Given the description of an element on the screen output the (x, y) to click on. 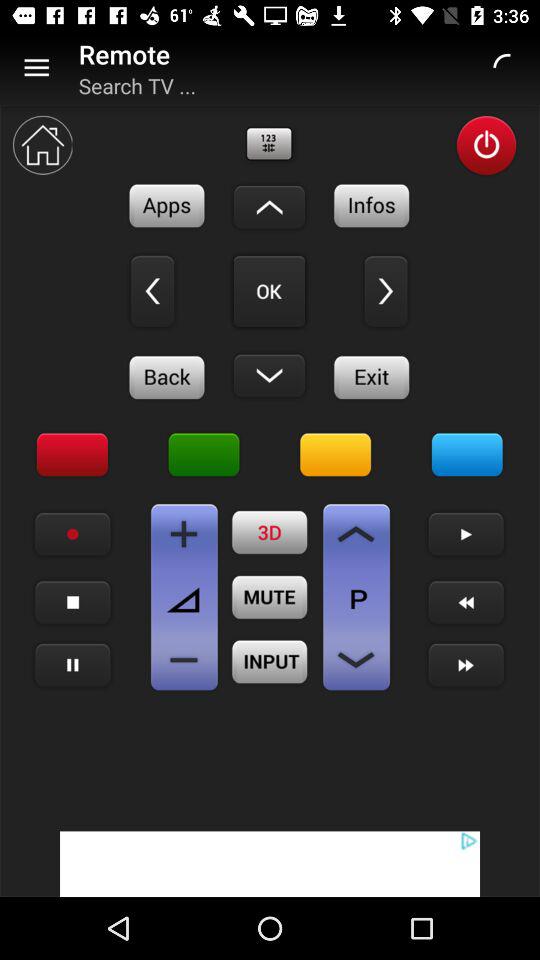
advertisement (270, 864)
